Given the description of an element on the screen output the (x, y) to click on. 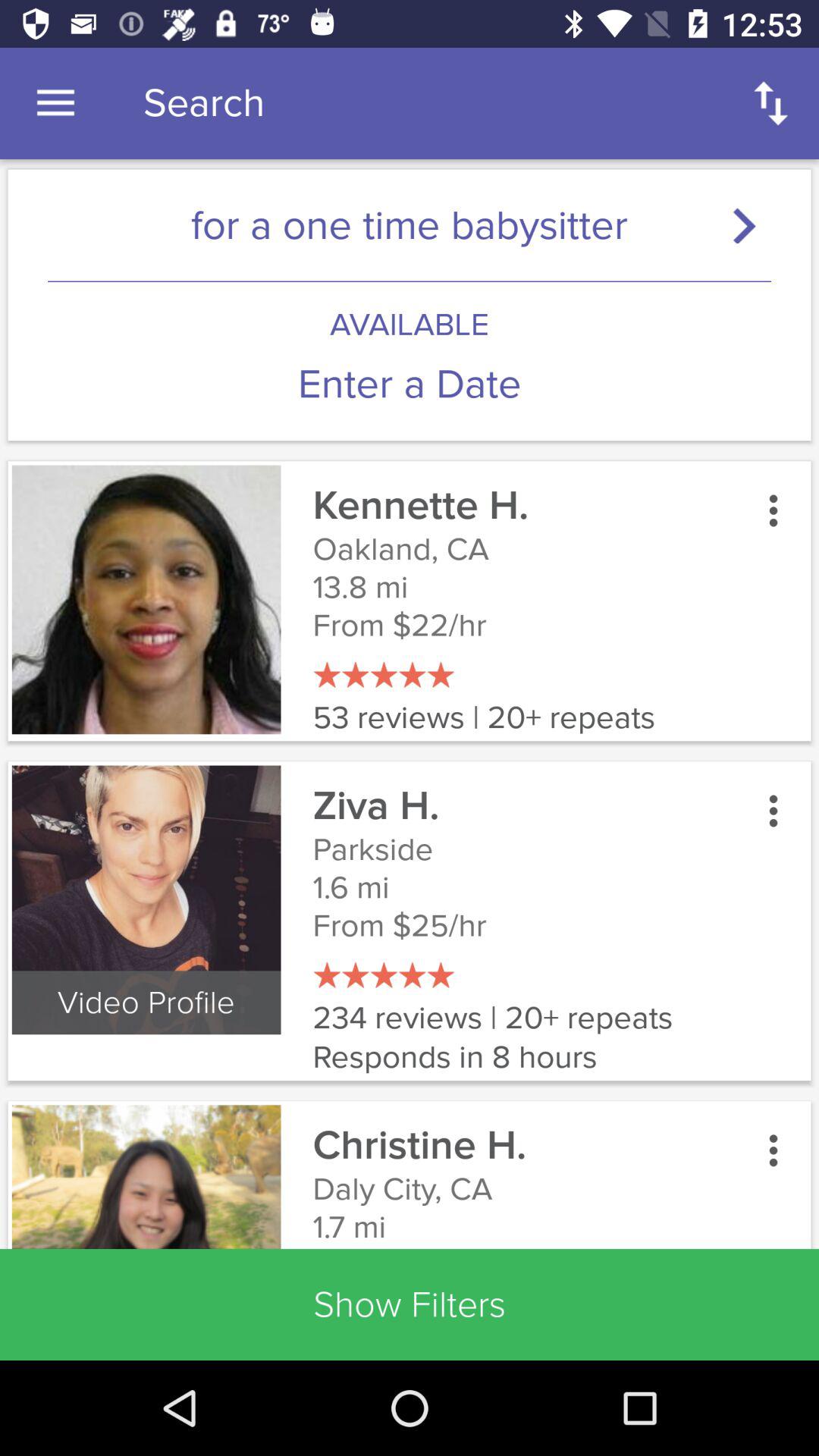
choose enter a date icon (409, 384)
